Given the description of an element on the screen output the (x, y) to click on. 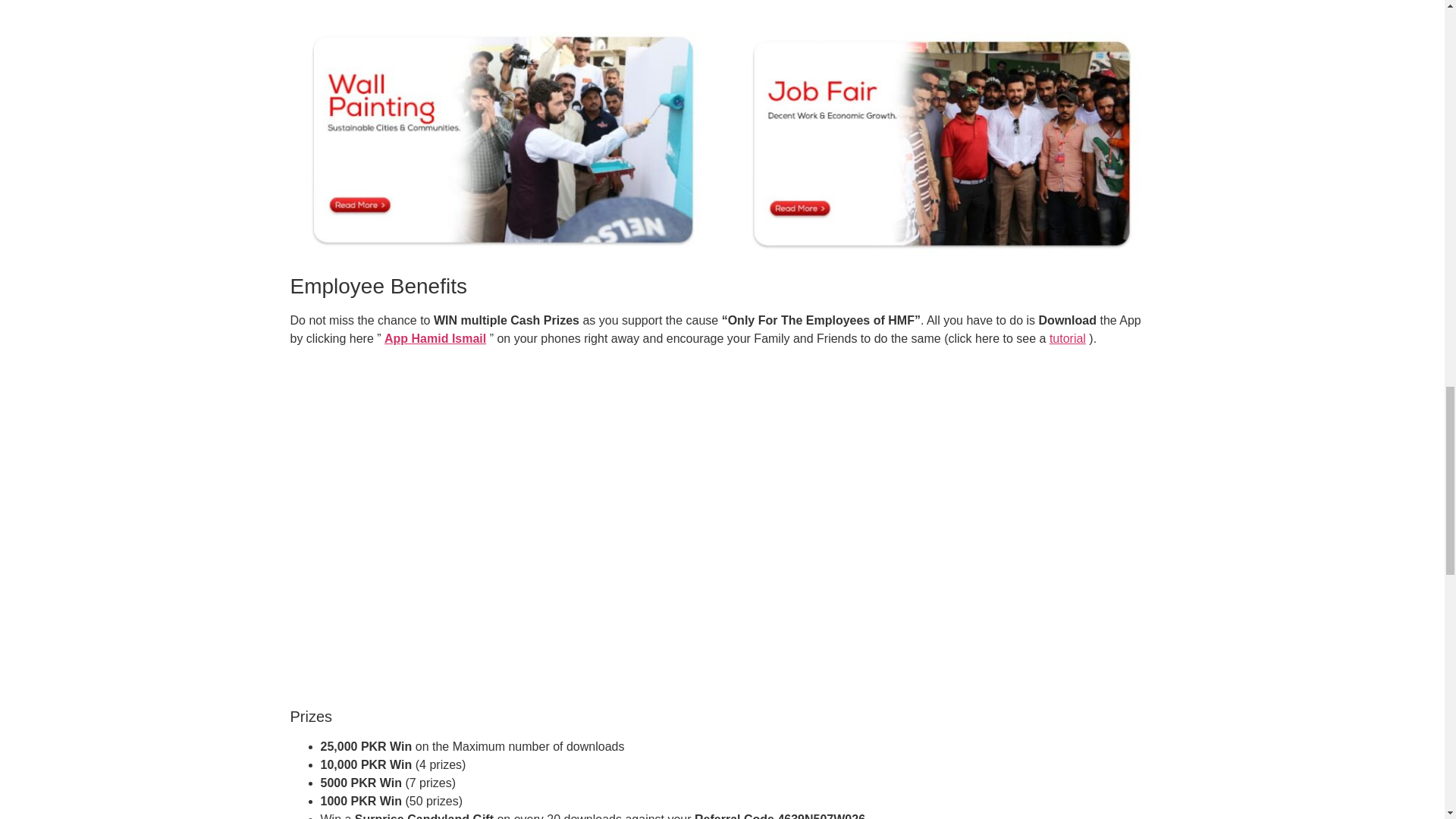
Advertisement (721, 615)
tutorial (1067, 338)
App Hamid Ismail (435, 338)
